Given the description of an element on the screen output the (x, y) to click on. 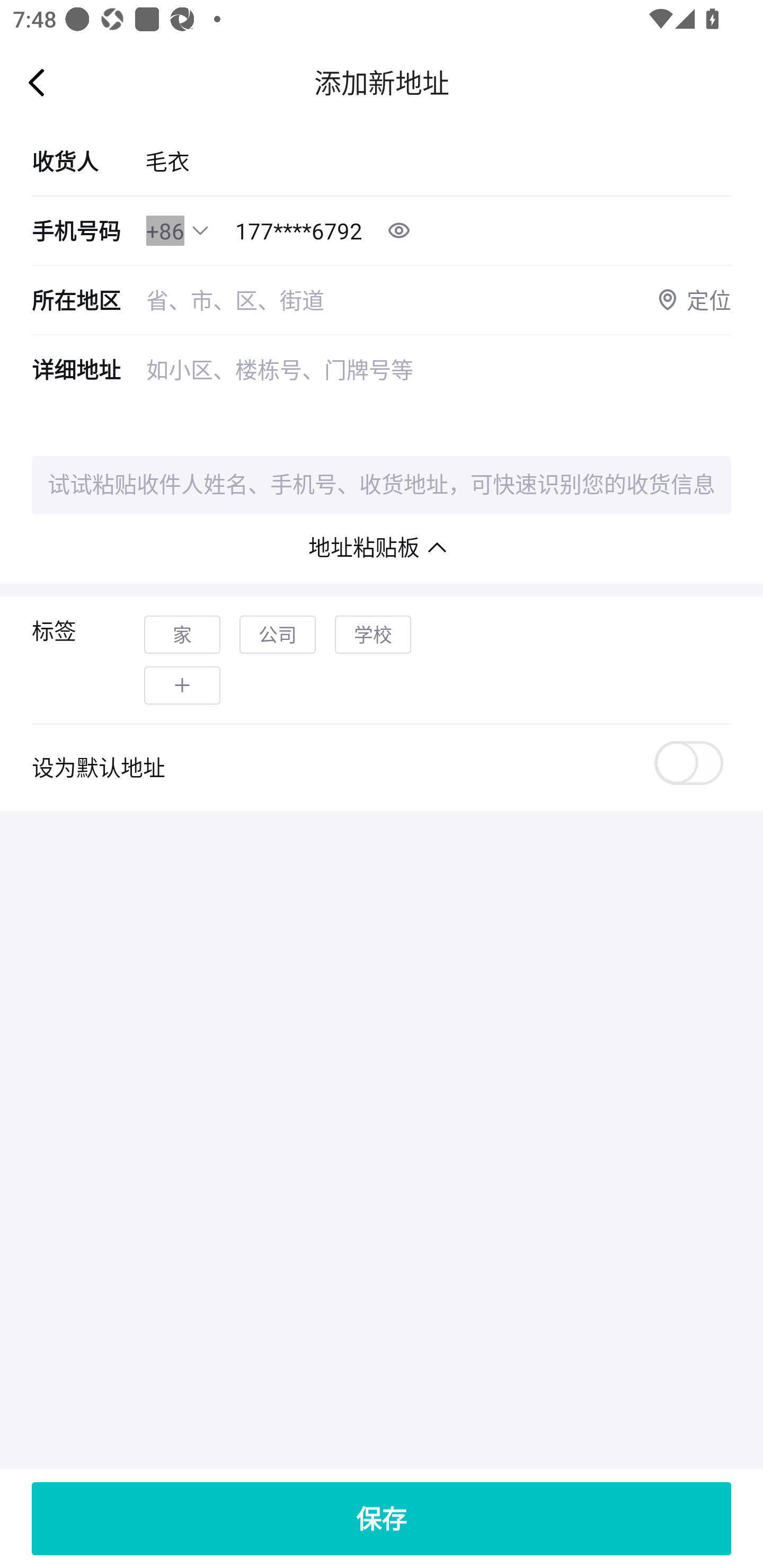
Navigate up (36, 82)
毛衣 (437, 160)
+86 (165, 231)
177****6792 (298, 231)
 (199, 230)
所在地区 省、市、区、街道 定位 (381, 299)
定位 (692, 300)
如小区、楼栋号、门牌号等 (438, 395)
试试粘贴收件人姓名、手机号、收货地址，可快速识别您的收货信息 (381, 484)
地址粘贴板 (381, 546)
家 (182, 634)
公司 (277, 634)
学校 (372, 634)
 (182, 685)
保存 (381, 1518)
